Given the description of an element on the screen output the (x, y) to click on. 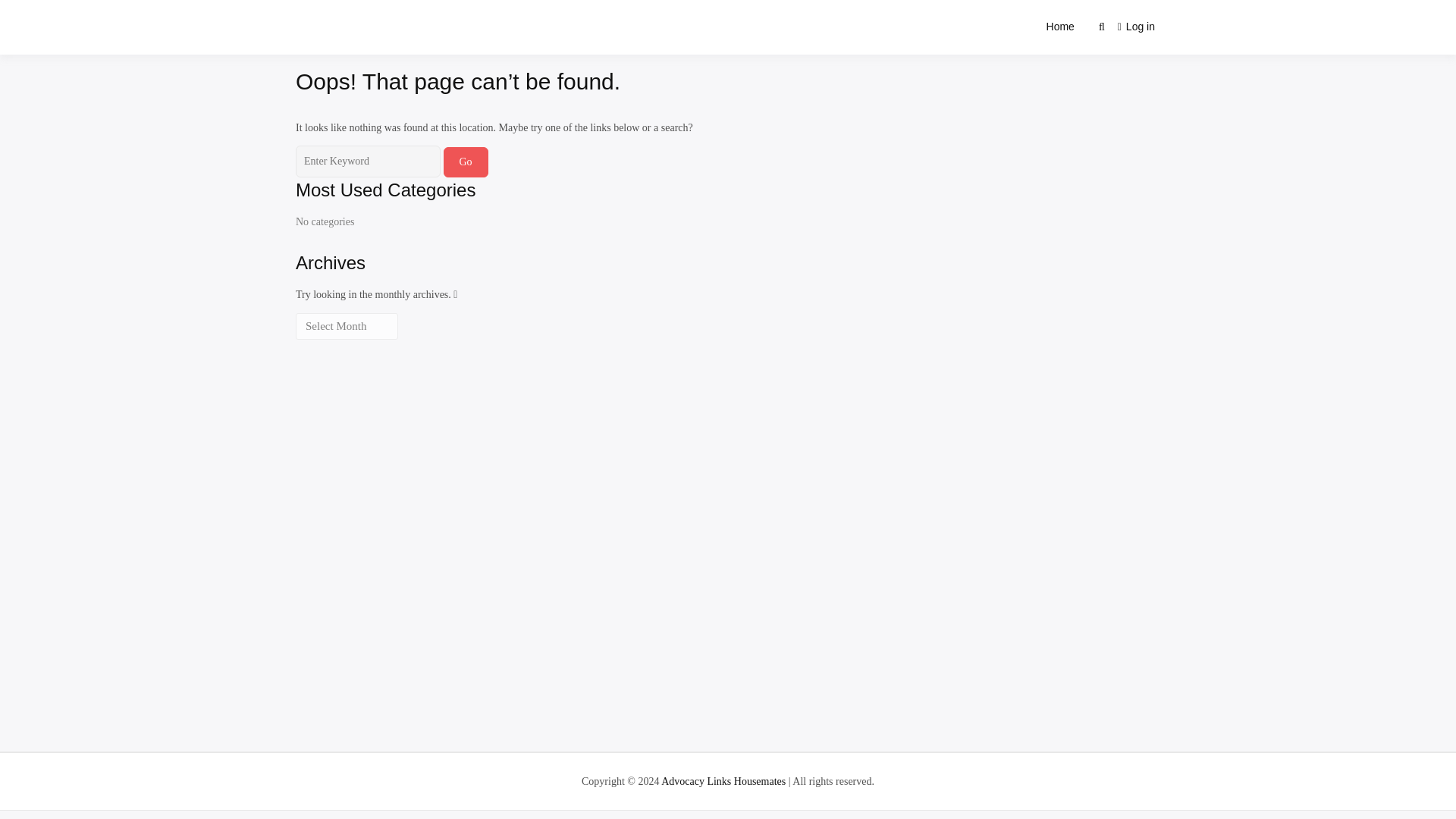
Advocacy Links Housemates (472, 43)
Go (464, 162)
Log in (1136, 27)
Login (1136, 27)
Go (464, 162)
Advocacy Links Housemates (723, 781)
